Given the description of an element on the screen output the (x, y) to click on. 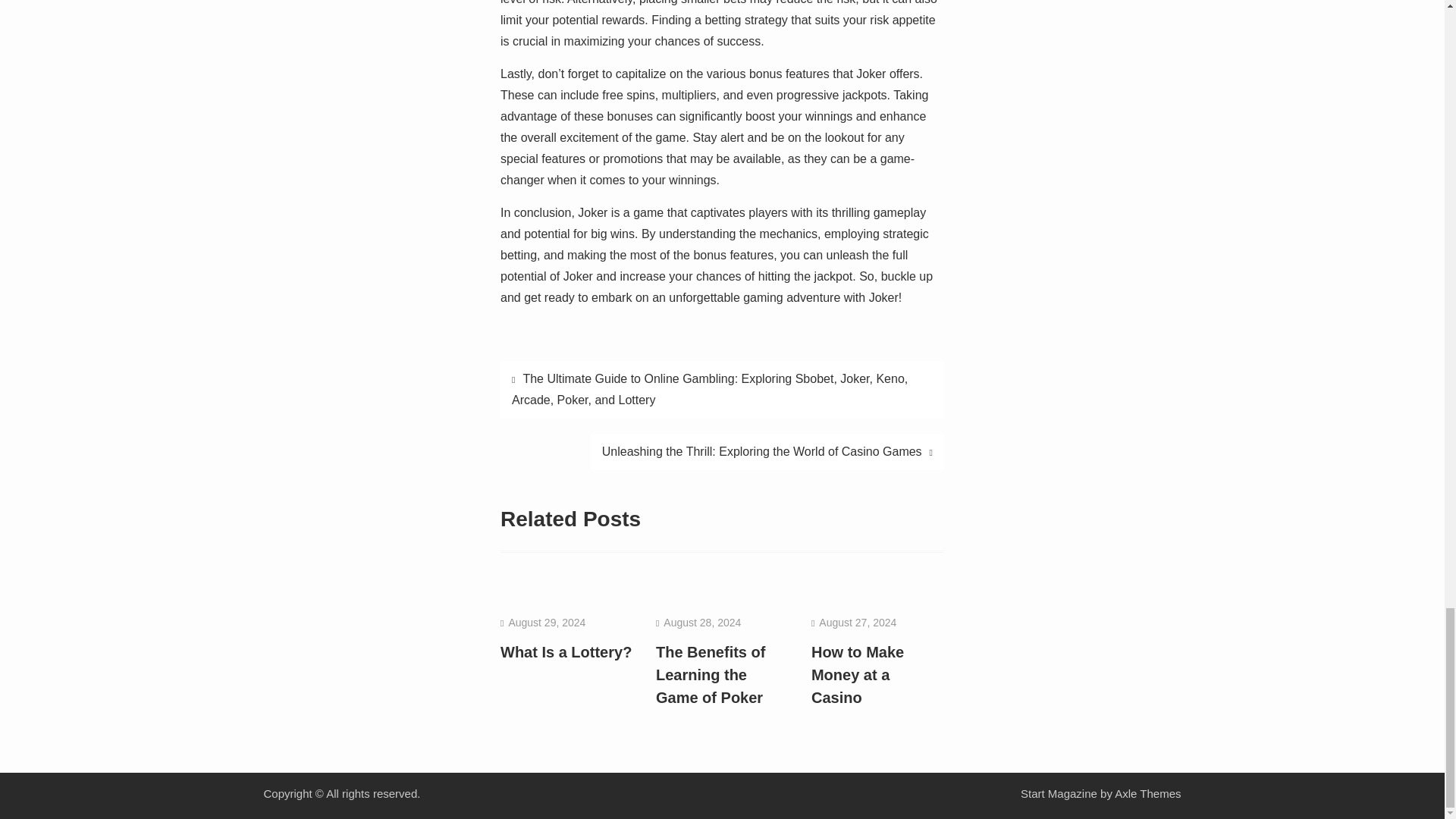
The Benefits of Learning the Game of Poker (710, 674)
Unleashing the Thrill: Exploring the World of Casino Games (767, 452)
How to Make Money at a Casino (857, 674)
What Is a Lottery? (565, 651)
